Given the description of an element on the screen output the (x, y) to click on. 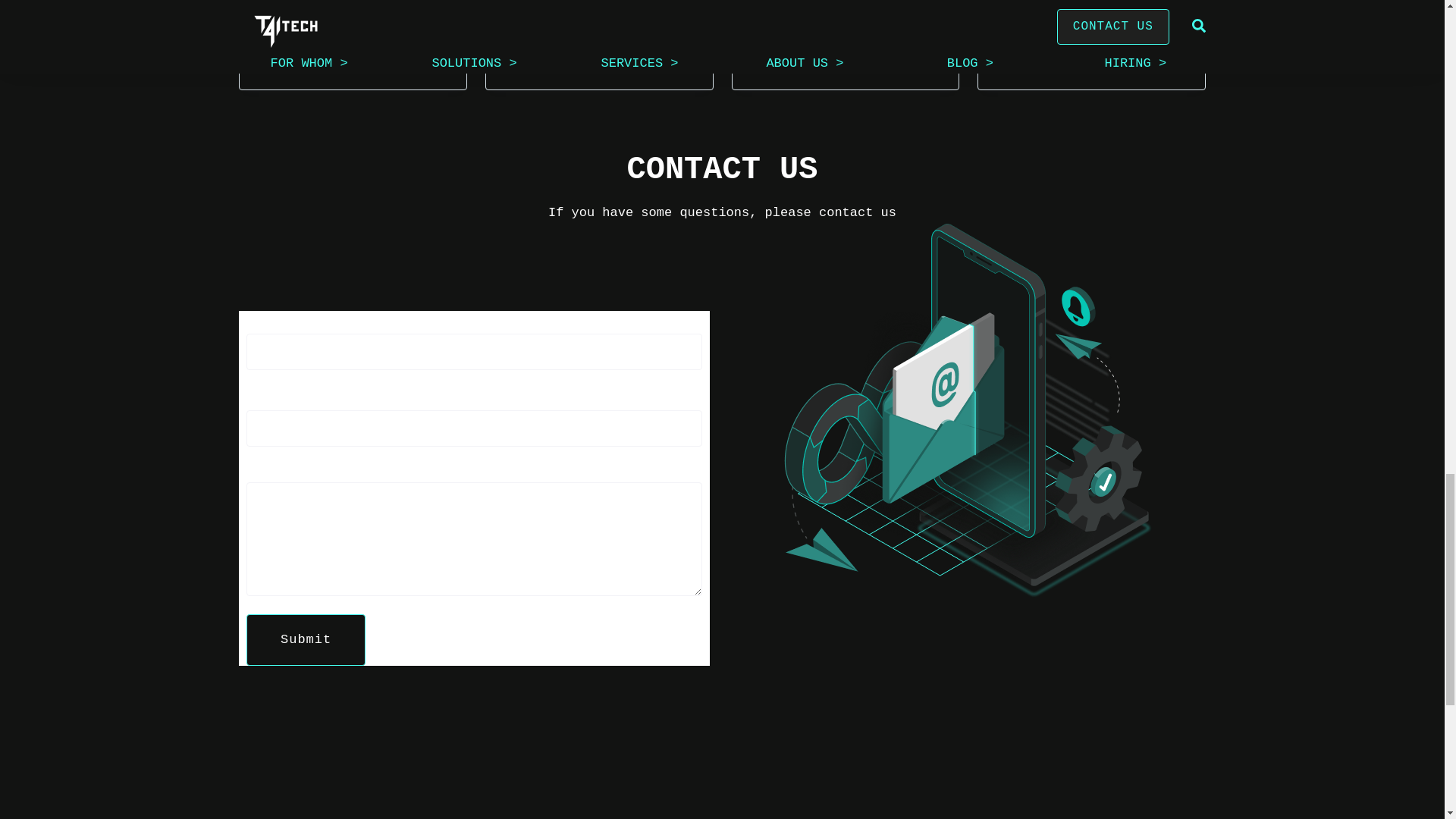
Submit (305, 671)
reCAPTCHA (474, 605)
Submit (305, 671)
